Given the description of an element on the screen output the (x, y) to click on. 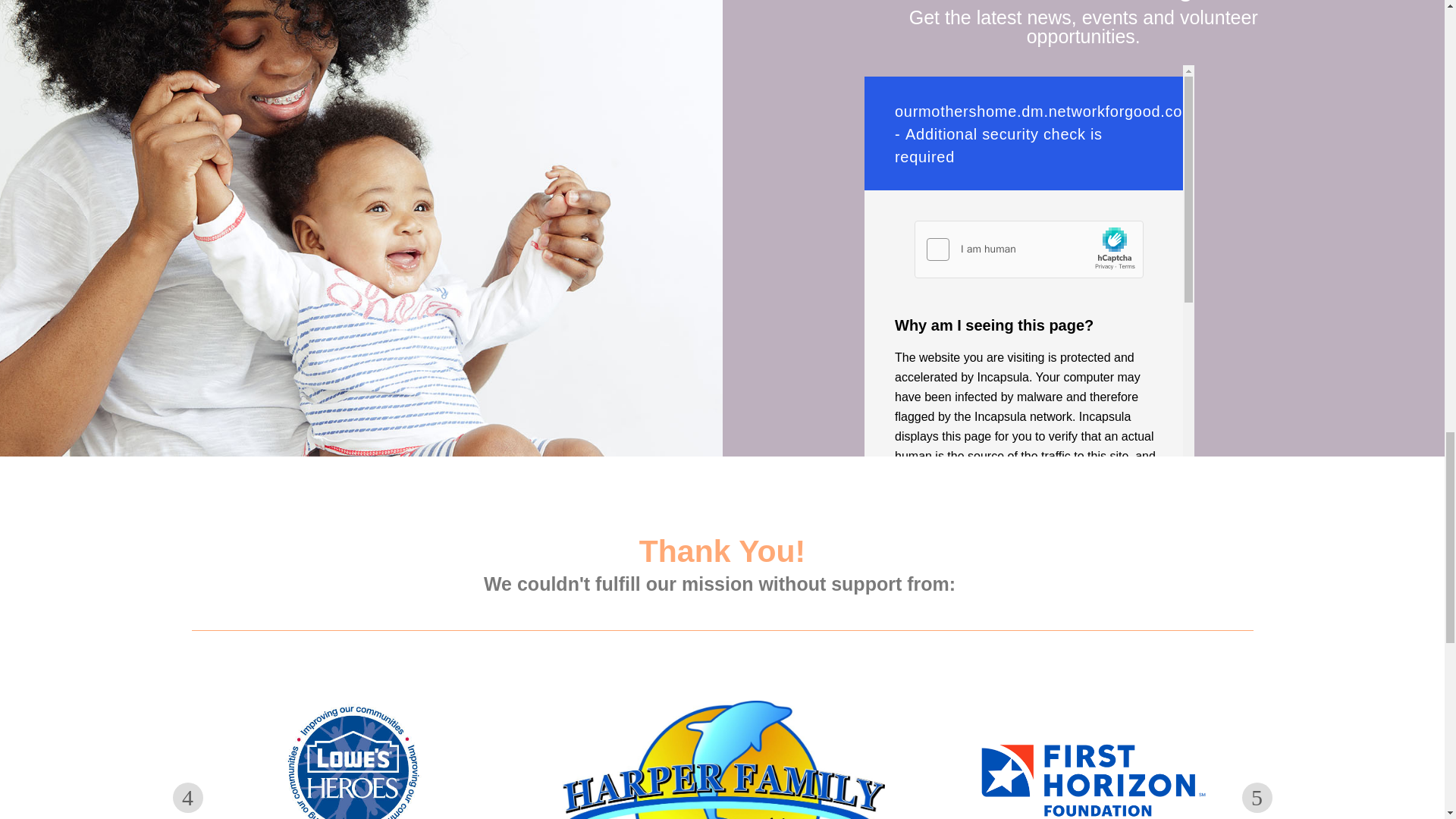
Prev (188, 797)
